Given the description of an element on the screen output the (x, y) to click on. 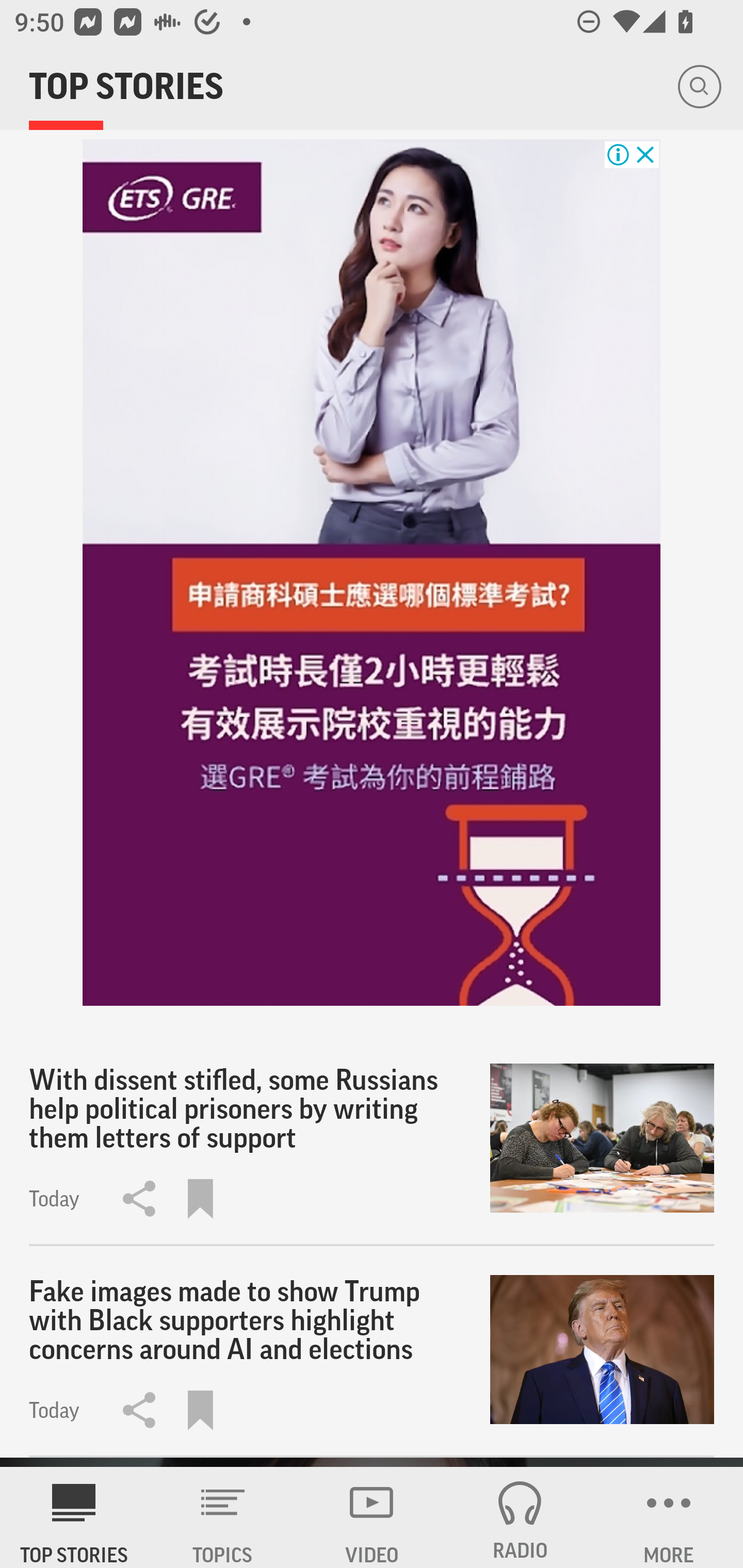
about (371, 572)
AP News TOP STORIES (74, 1517)
TOPICS (222, 1517)
VIDEO (371, 1517)
RADIO (519, 1517)
MORE (668, 1517)
